Given the description of an element on the screen output the (x, y) to click on. 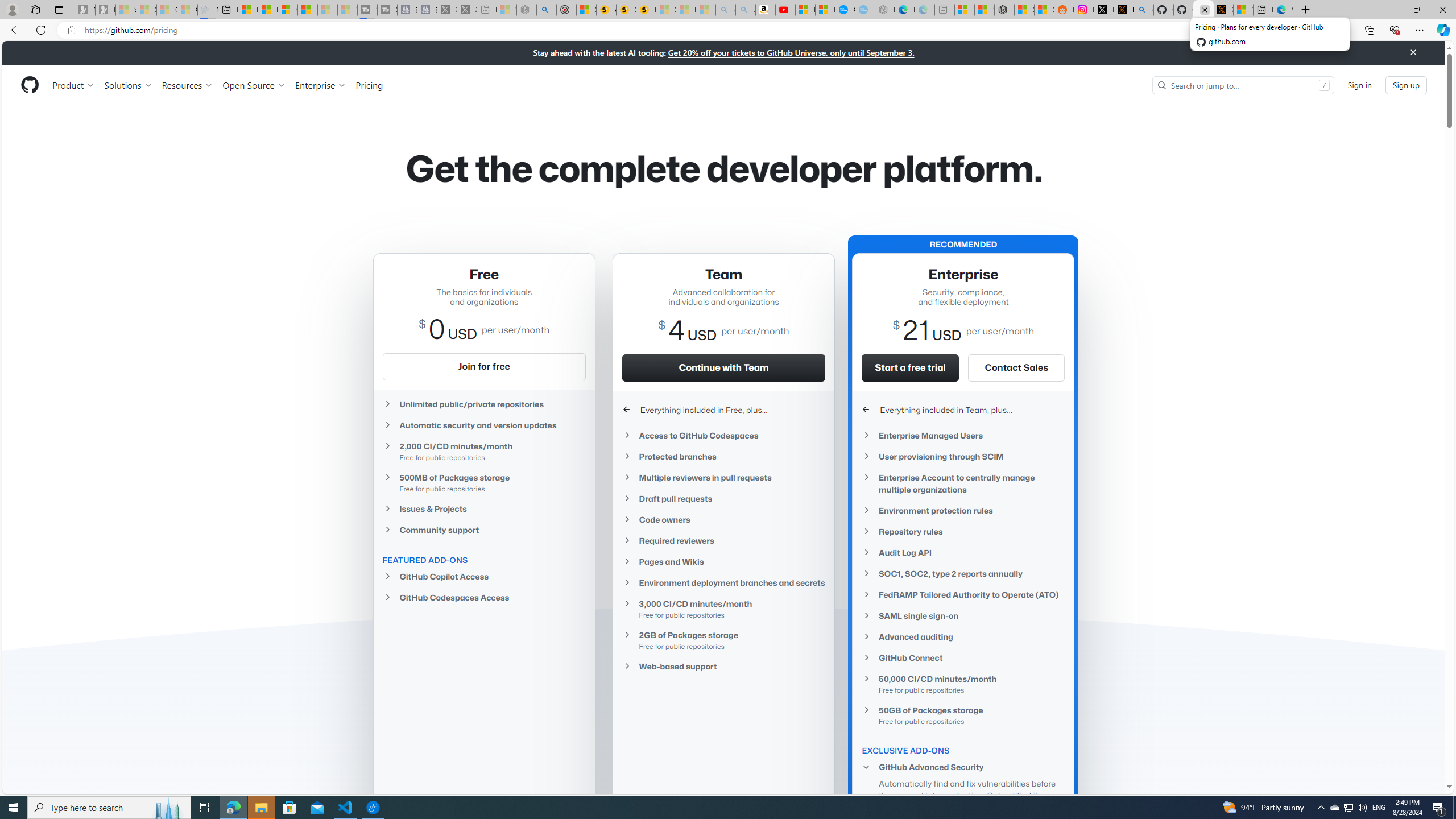
Draft pull requests (723, 498)
help.x.com | 524: A timeout occurred (1123, 9)
Solutions (128, 84)
Day 1: Arriving in Yemen (surreal to be here) - YouTube (785, 9)
2,000 CI/CD minutes/monthFree for public repositories (483, 450)
Resources (187, 84)
FedRAMP Tailored Authority to Operate (ATO) (963, 594)
Microsoft Start - Sleeping (327, 9)
Draft pull requests (723, 498)
Nordace - Duffels (1004, 9)
Enterprise Managed Users (963, 435)
Issues & Projects (483, 508)
Environment protection rules (963, 510)
